Given the description of an element on the screen output the (x, y) to click on. 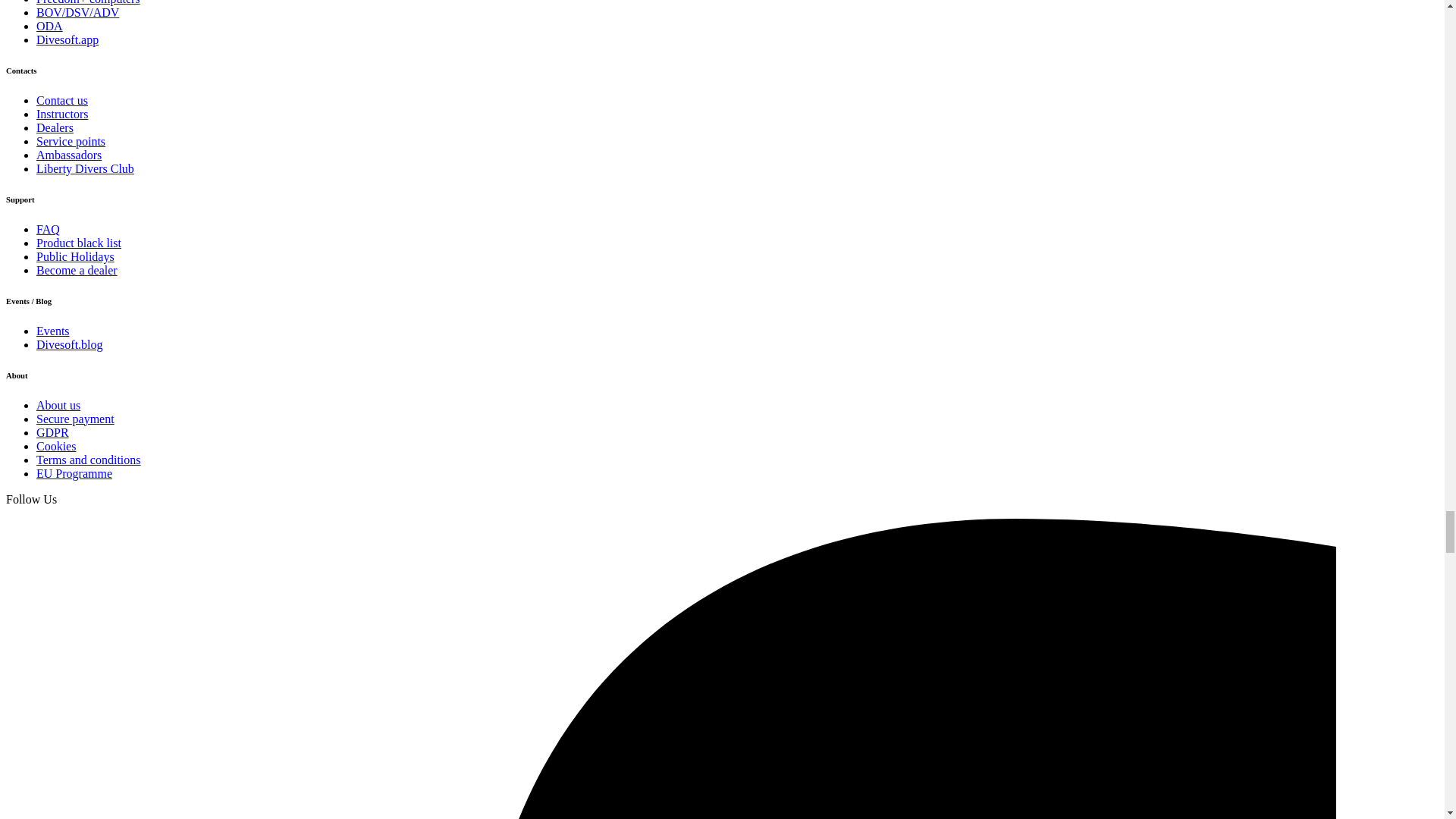
FAQ (47, 228)
Product black list (78, 242)
Contact us (61, 100)
Public Holidays (75, 256)
Ambassadors (68, 154)
Service points (70, 141)
Dealers (55, 127)
ODA (49, 25)
Divesoft.app (67, 39)
Liberty Divers Club (84, 168)
Instructors (61, 113)
